Given the description of an element on the screen output the (x, y) to click on. 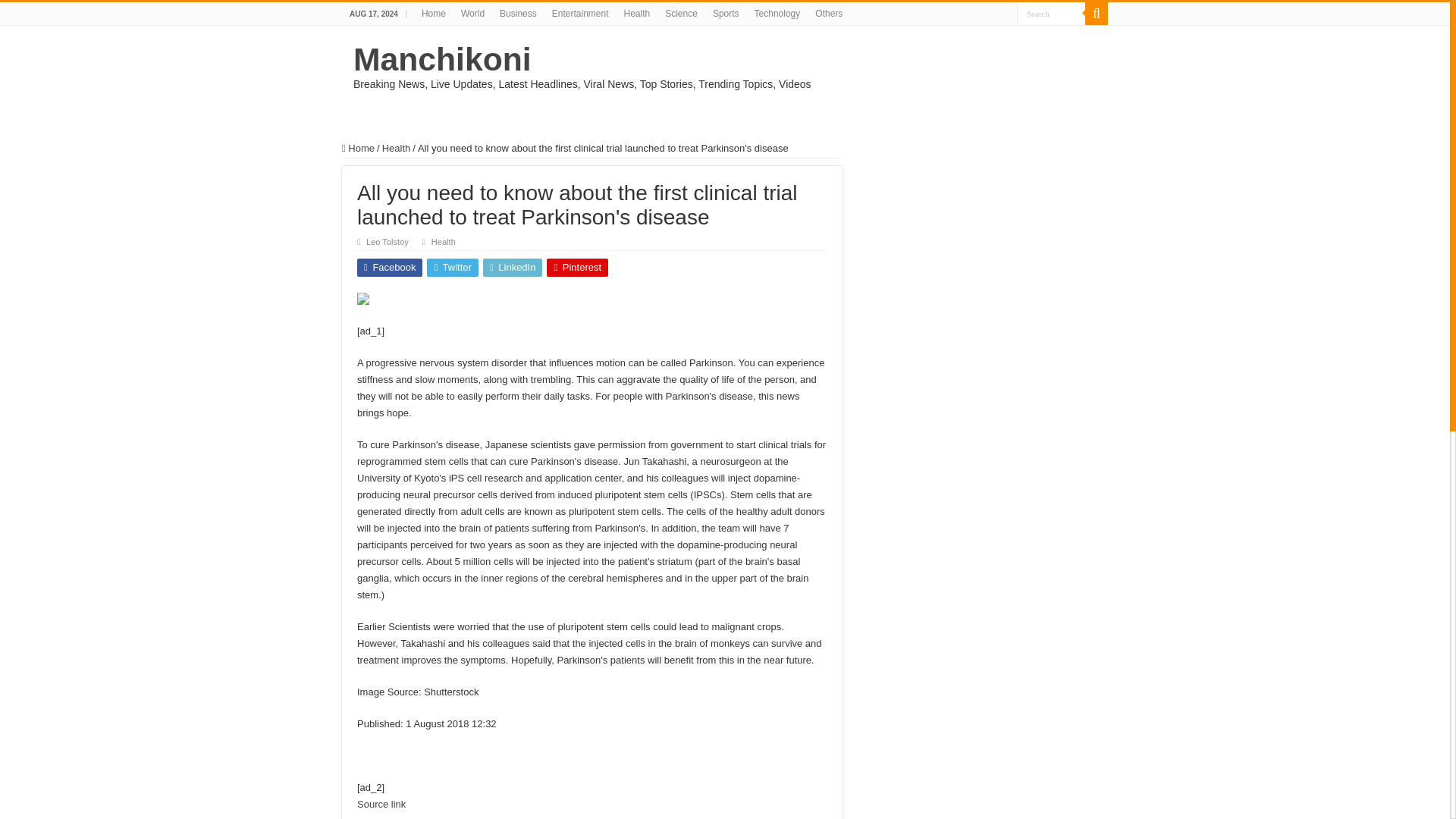
Home (358, 147)
LinkedIn (513, 267)
Search (1050, 13)
Health (395, 147)
Leo Tolstoy (387, 241)
Twitter (451, 267)
Home (432, 13)
Health (636, 13)
Advertisement (1073, 248)
Others (829, 13)
